Given the description of an element on the screen output the (x, y) to click on. 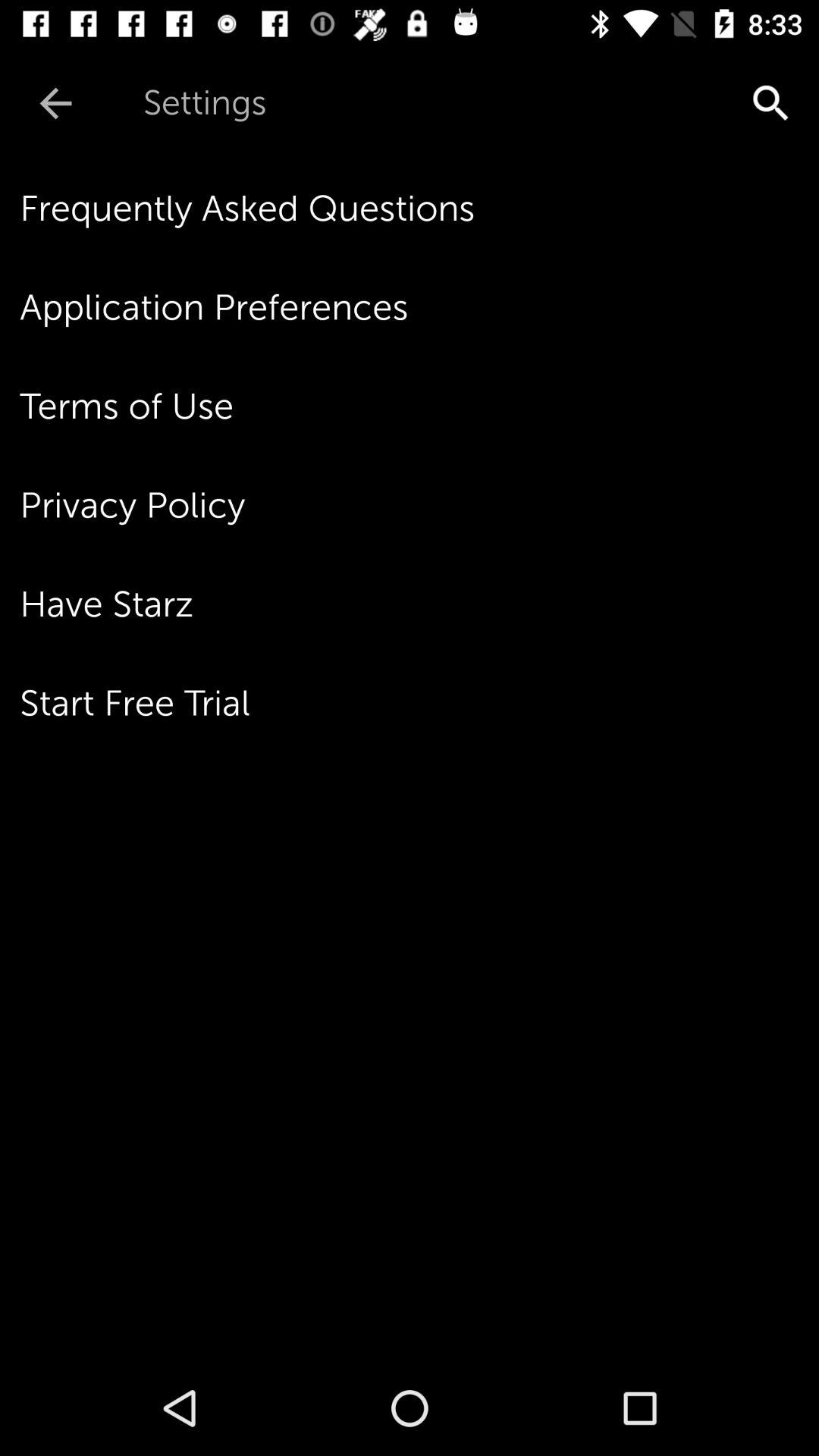
press the terms of use (419, 406)
